Given the description of an element on the screen output the (x, y) to click on. 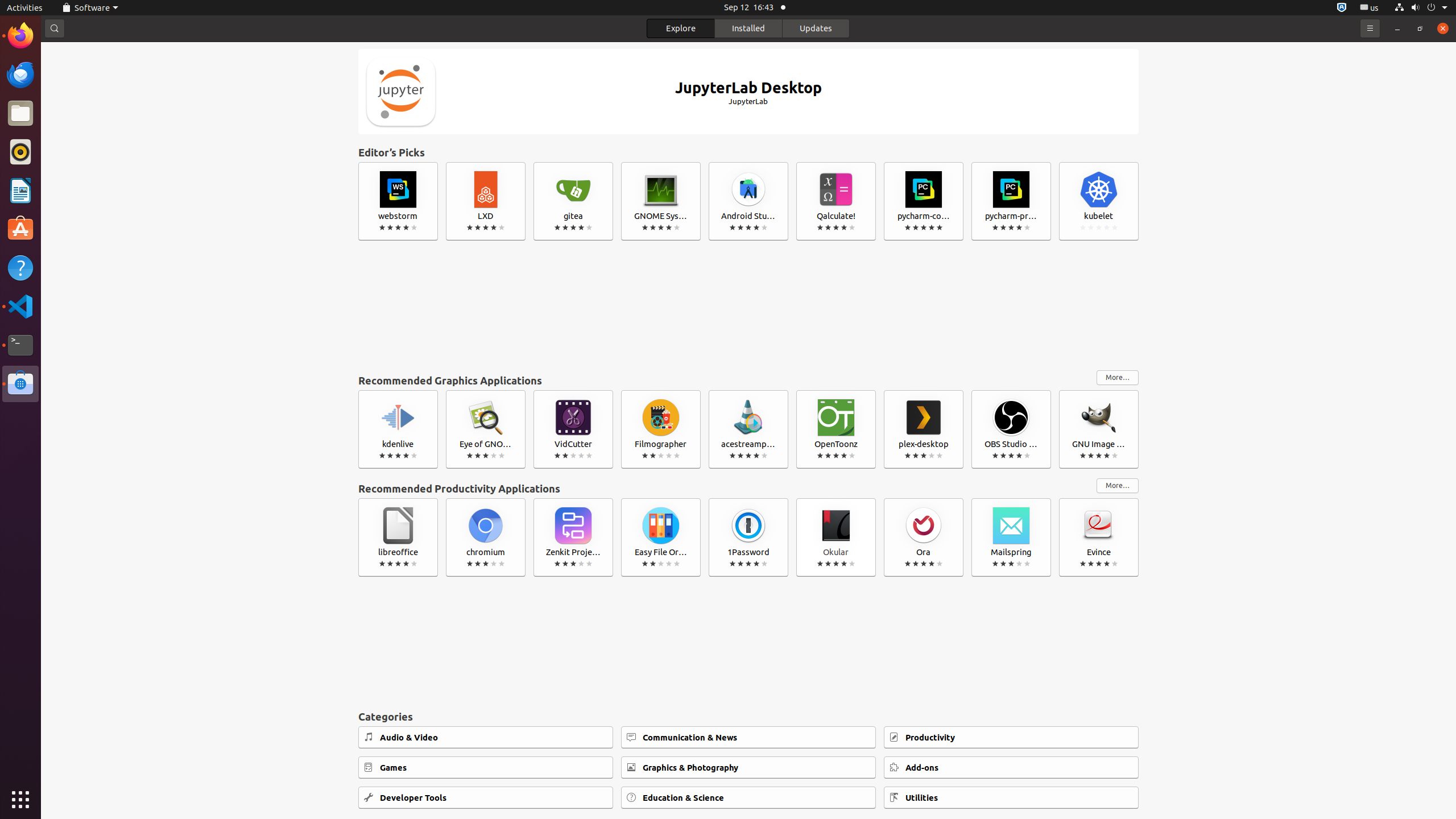
Editor’s Picks Element type: label (748, 152)
Developer Tools Element type: push-button (485, 797)
VidCutter Element type: push-button (573, 429)
